Given the description of an element on the screen output the (x, y) to click on. 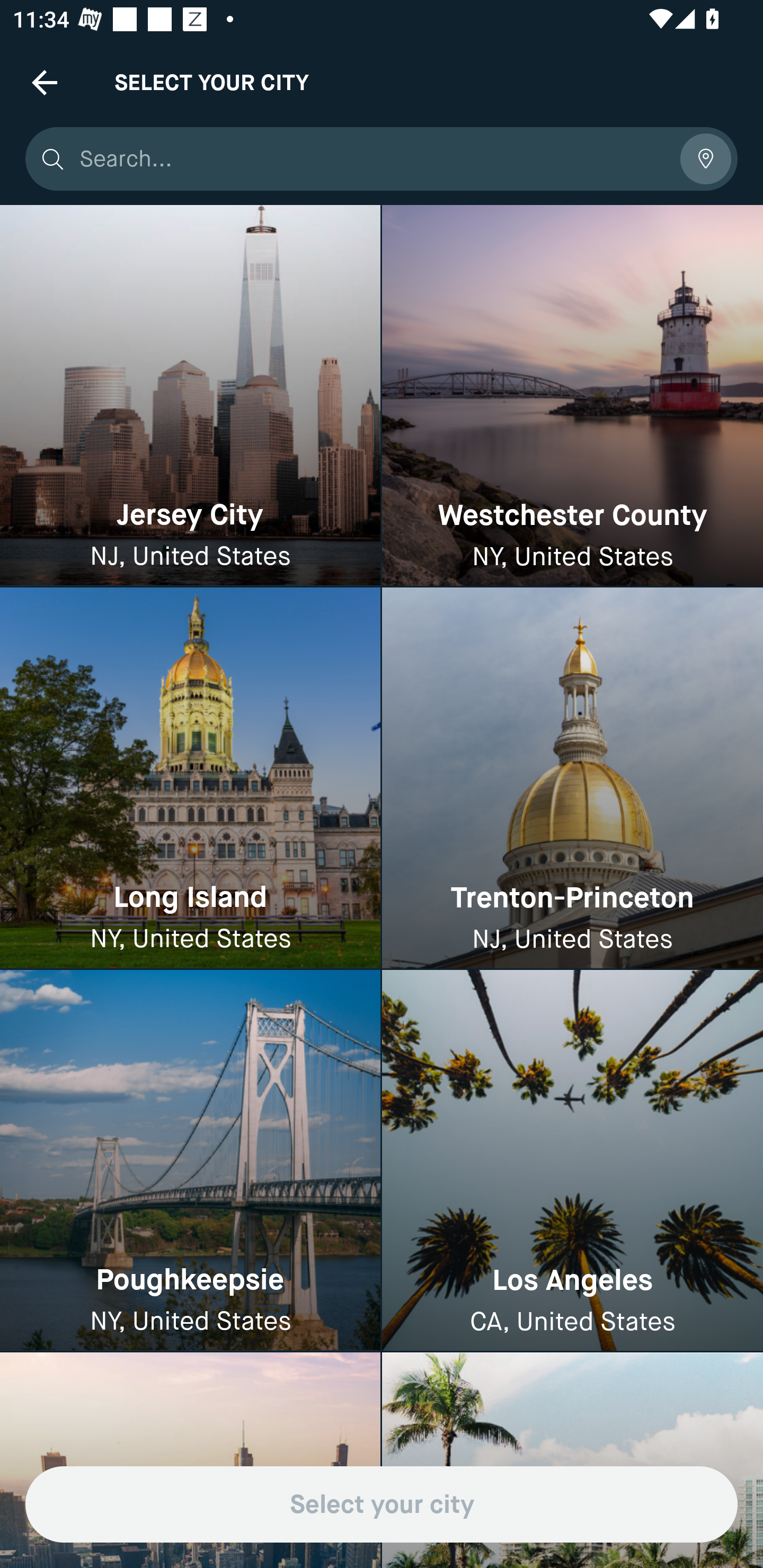
Navigate up (44, 82)
Search... (373, 159)
Jersey City NJ, United States (190, 395)
Westchester County NY, United States (572, 395)
Long Island NY, United States (190, 778)
Trenton-Princeton NJ, United States (572, 778)
Poughkeepsie NY, United States (190, 1160)
Los Angeles CA, United States (572, 1160)
Select your city (381, 1504)
